Given the description of an element on the screen output the (x, y) to click on. 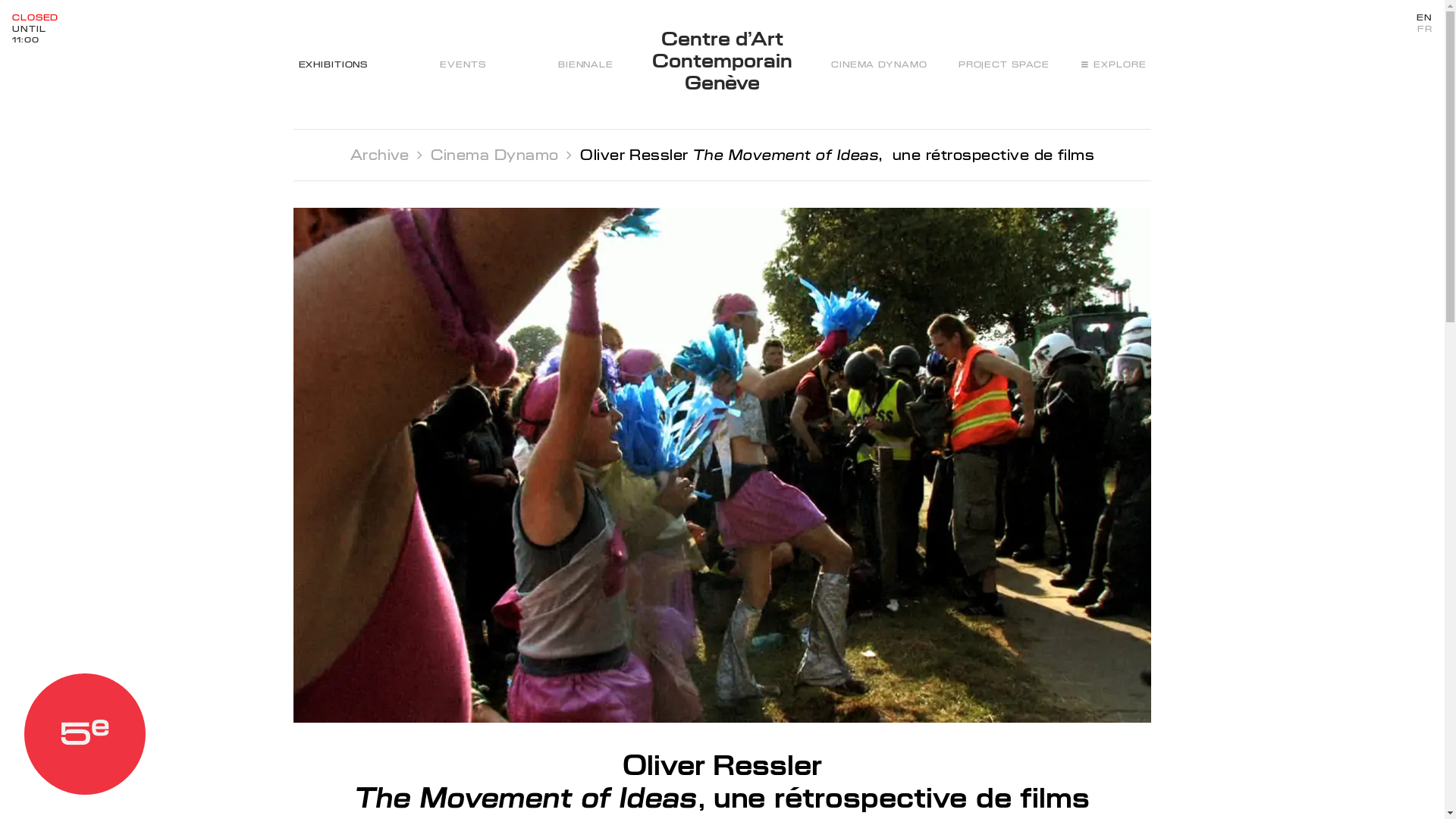
FR Element type: text (1424, 28)
EVENTS Element type: text (462, 64)
CLOSED
UNTIL
11:00 Element type: text (35, 28)
EXHIBITIONS Element type: text (333, 64)
EN Element type: text (1424, 17)
CINEMA DYNAMO Element type: text (878, 64)
PROJECT SPACE Element type: text (1003, 64)
BIENNALE Element type: text (585, 64)
